Given the description of an element on the screen output the (x, y) to click on. 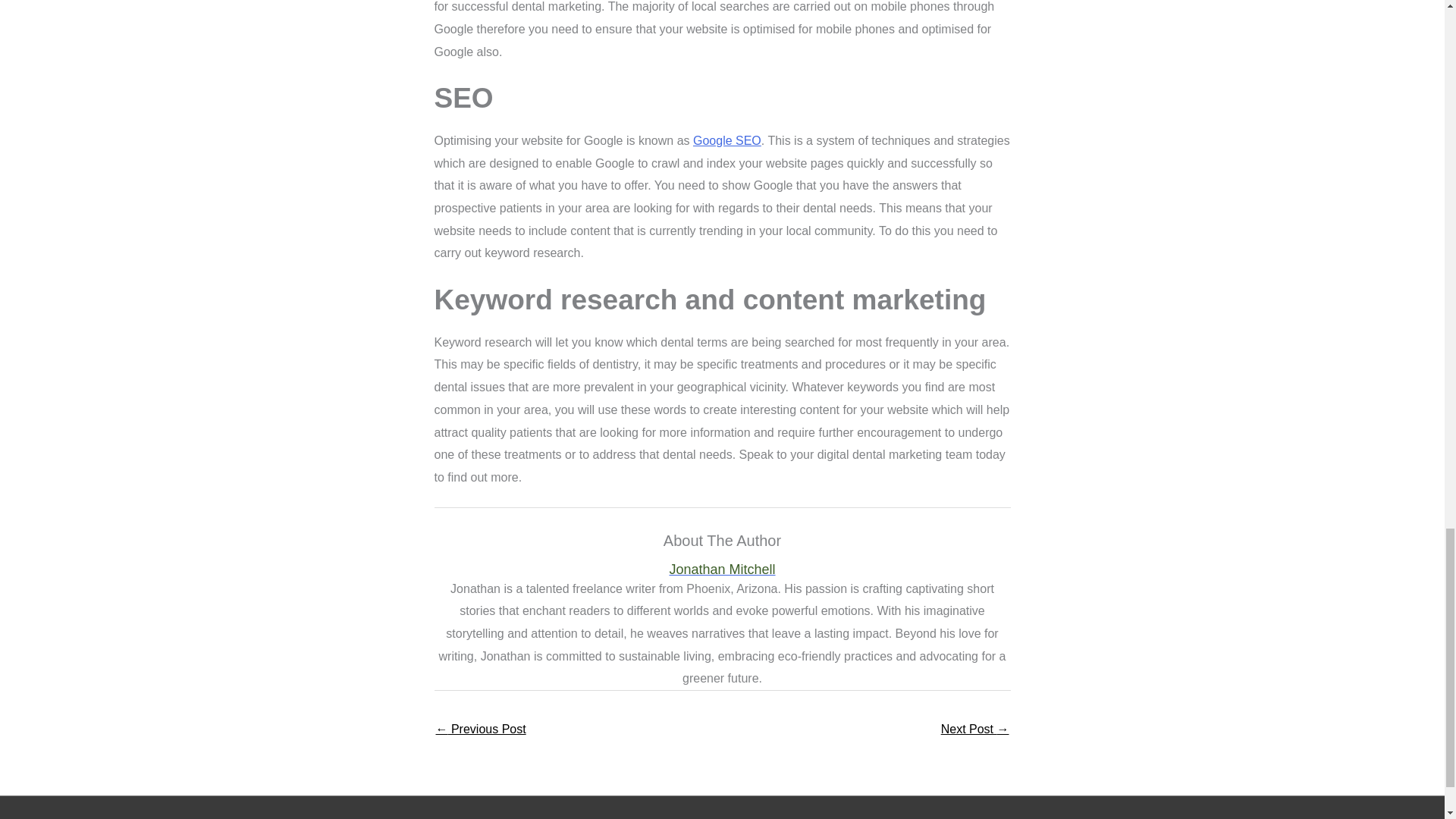
Google SEO (727, 140)
Jonathan Mitchell (721, 569)
Reasons Why Men are Prone to Danger (480, 730)
Sustainable Improvements to Make In Your Office (974, 730)
